Given the description of an element on the screen output the (x, y) to click on. 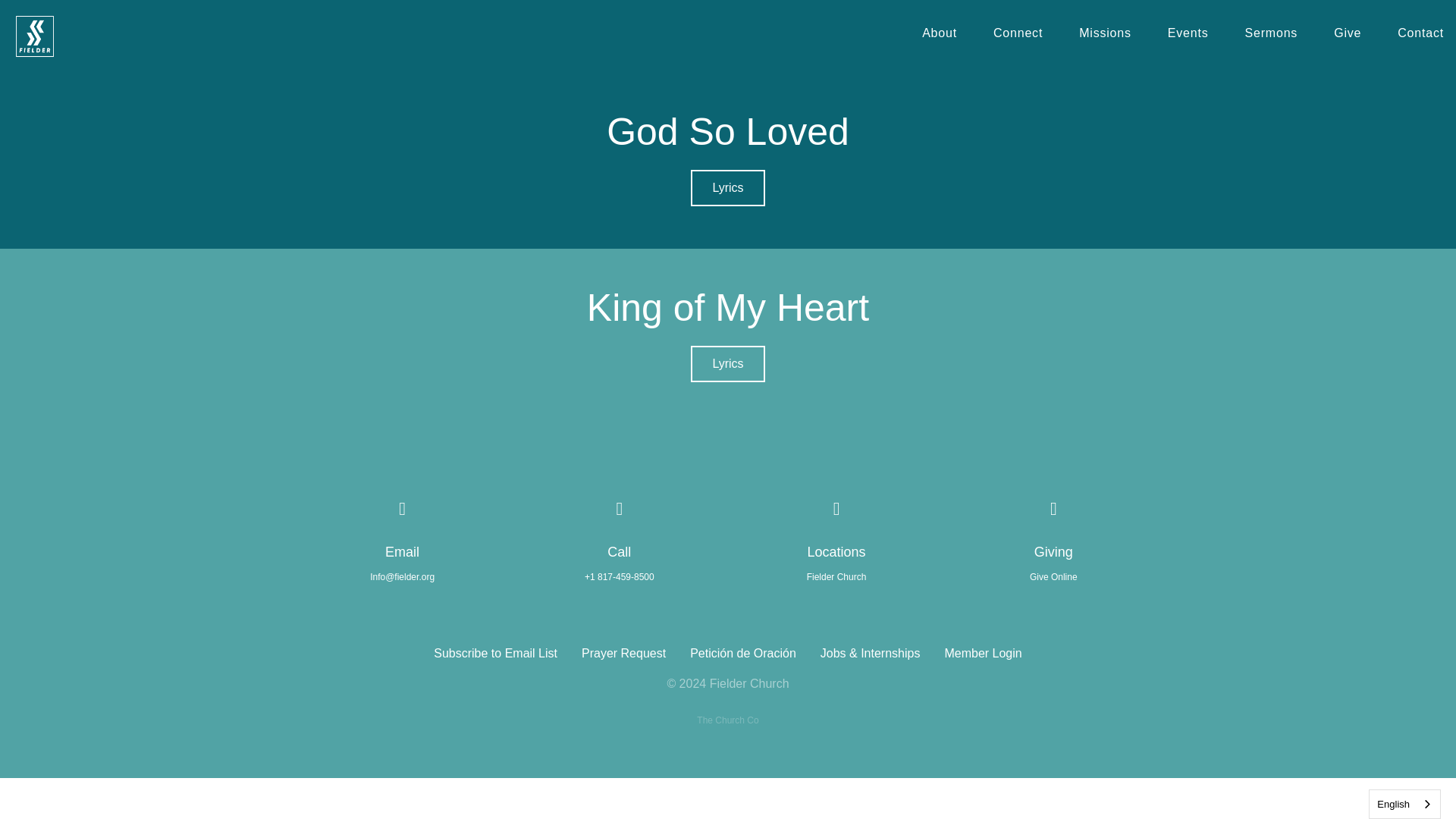
Connect (1017, 36)
About (938, 36)
Missions (1104, 36)
Give (1347, 36)
Events (1187, 36)
Sermons (1271, 36)
Contact (1420, 36)
